Given the description of an element on the screen output the (x, y) to click on. 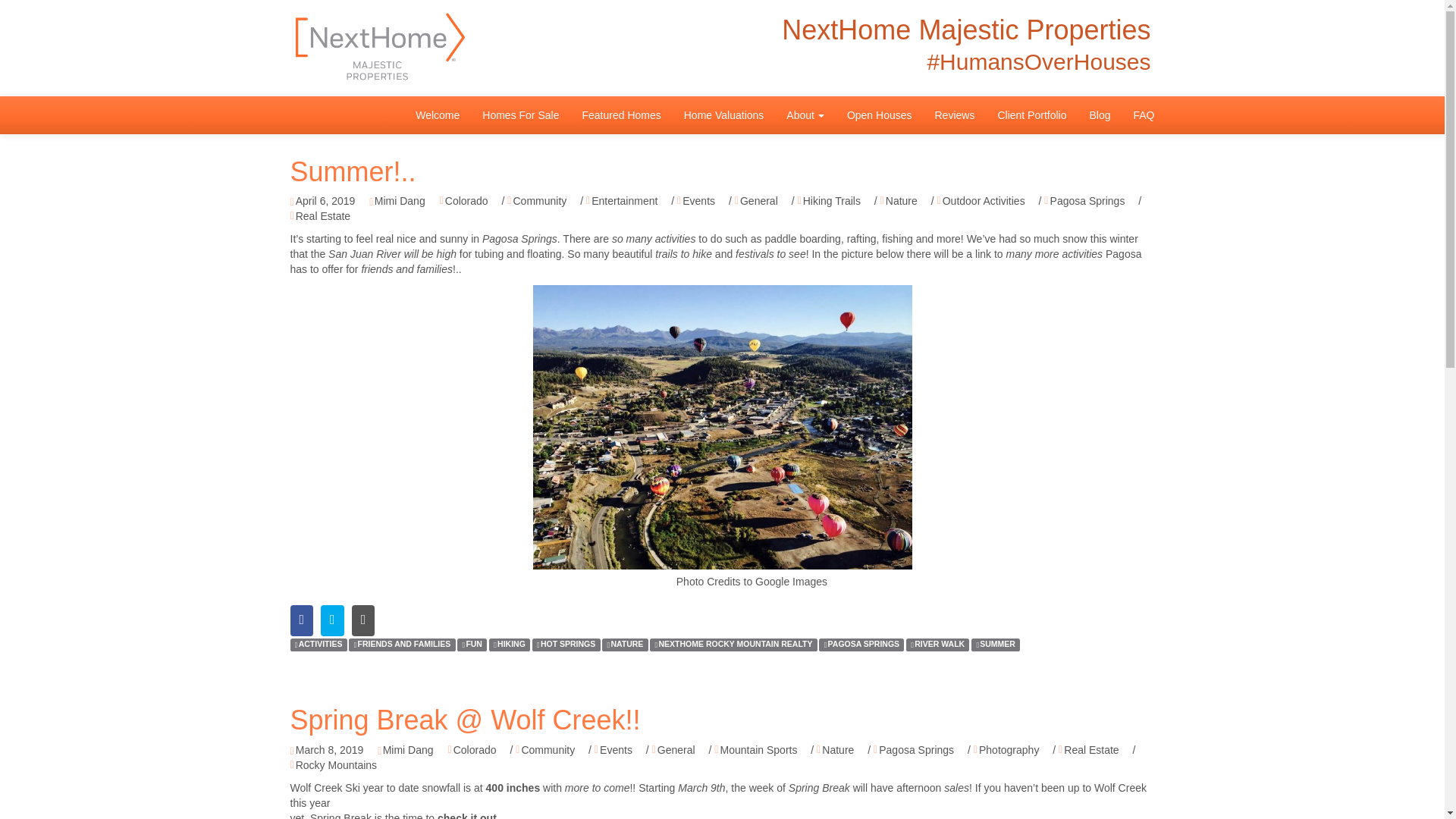
Client Portfolio (1031, 115)
Reviews (955, 115)
Real Estate (319, 216)
About (804, 115)
Pagosa Springs (1083, 201)
Welcome (437, 115)
Events (695, 201)
April 6 2019 (322, 201)
Featured Homes (620, 115)
Mimi Dang (397, 201)
Outdoor Activities (981, 201)
Community (536, 201)
Open Houses (879, 115)
Entertainment (622, 201)
Colorado (463, 201)
